Given the description of an element on the screen output the (x, y) to click on. 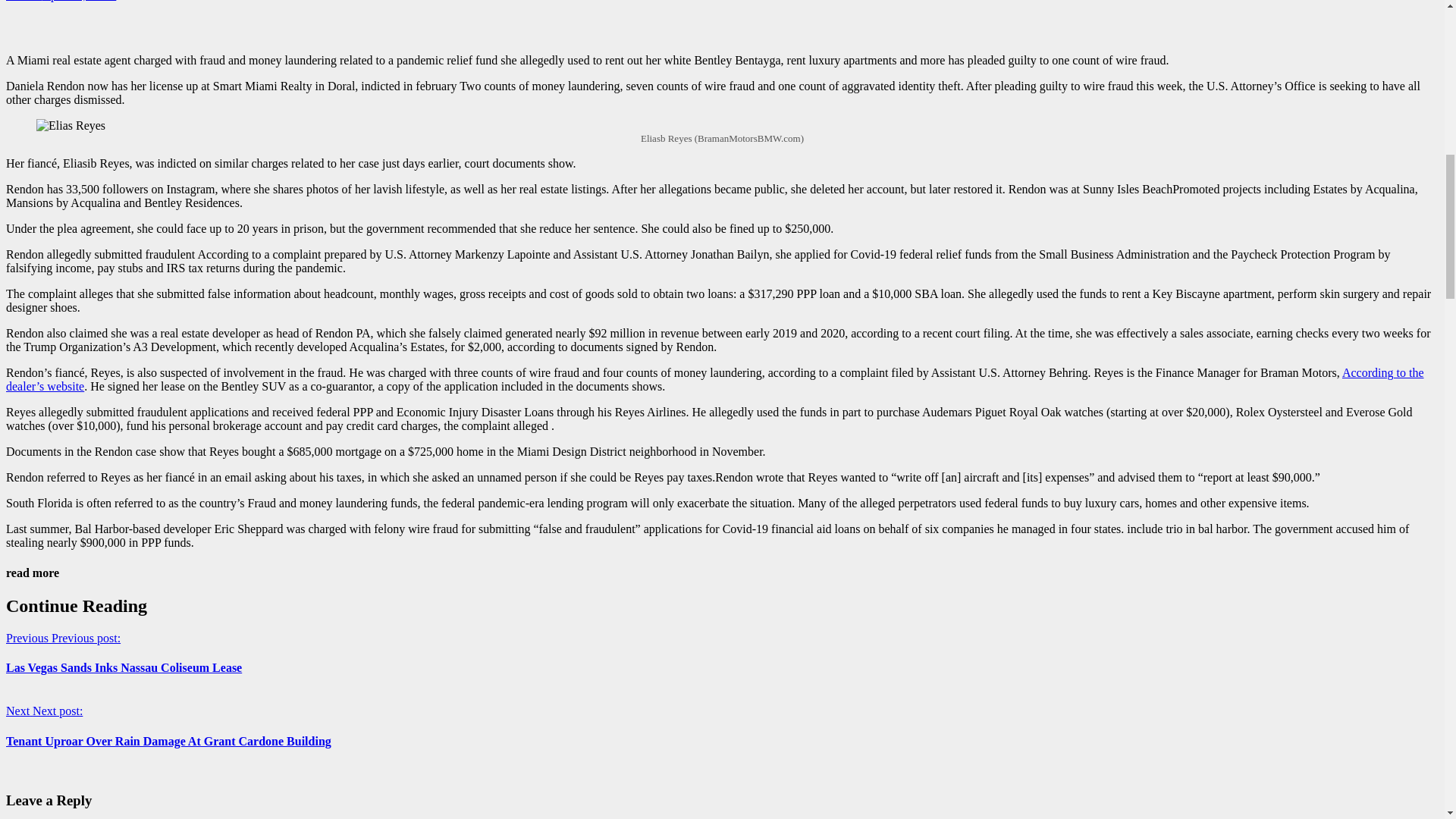
Admin (23, 0)
April 28, 2023 (79, 0)
